Given the description of an element on the screen output the (x, y) to click on. 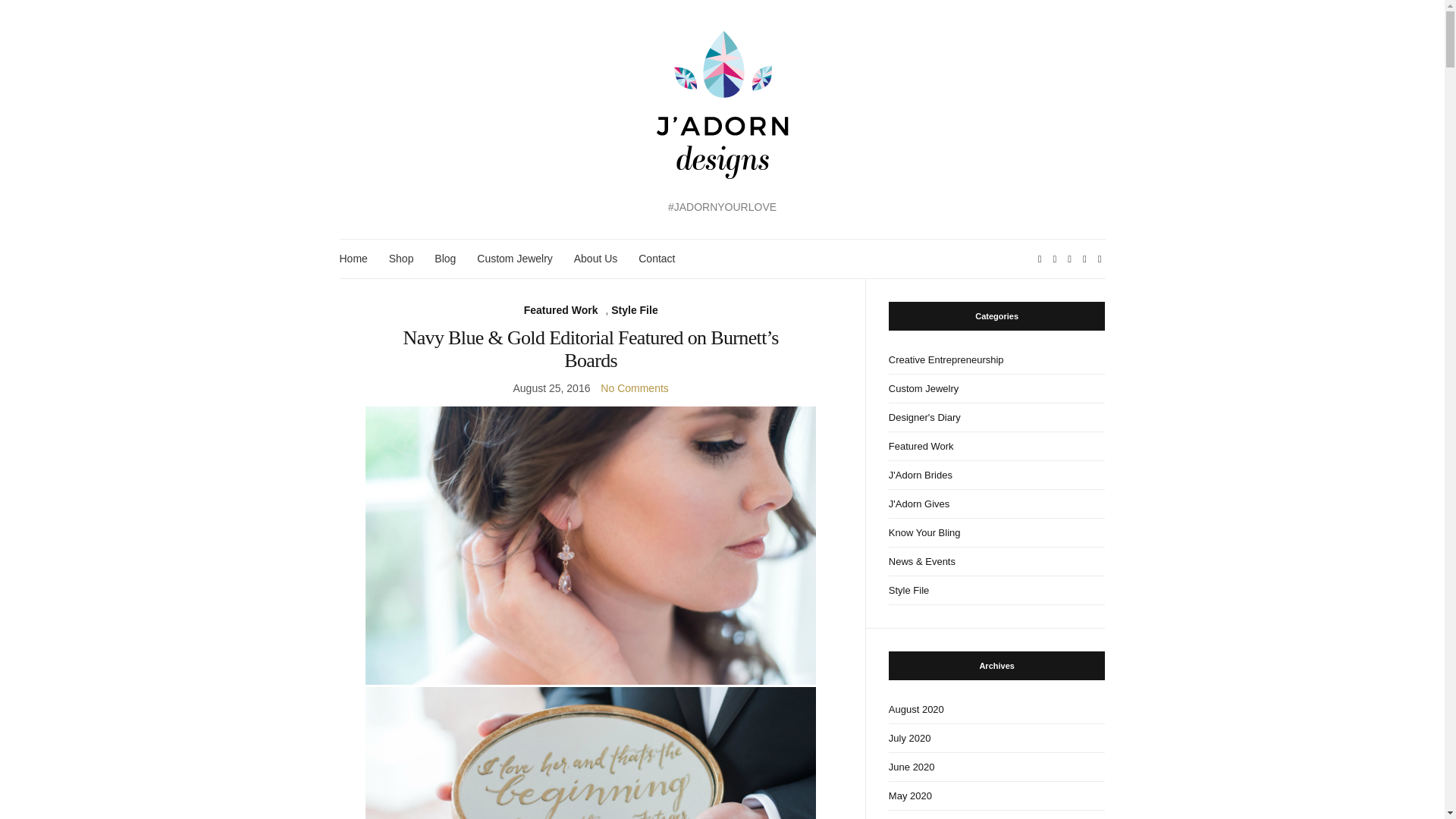
Home (353, 258)
No Comments (633, 387)
Blog (444, 258)
Shop (400, 258)
About Us (595, 258)
Contact (657, 258)
Featured Work (561, 310)
Custom Jewelry (515, 258)
Style File (634, 310)
